Given the description of an element on the screen output the (x, y) to click on. 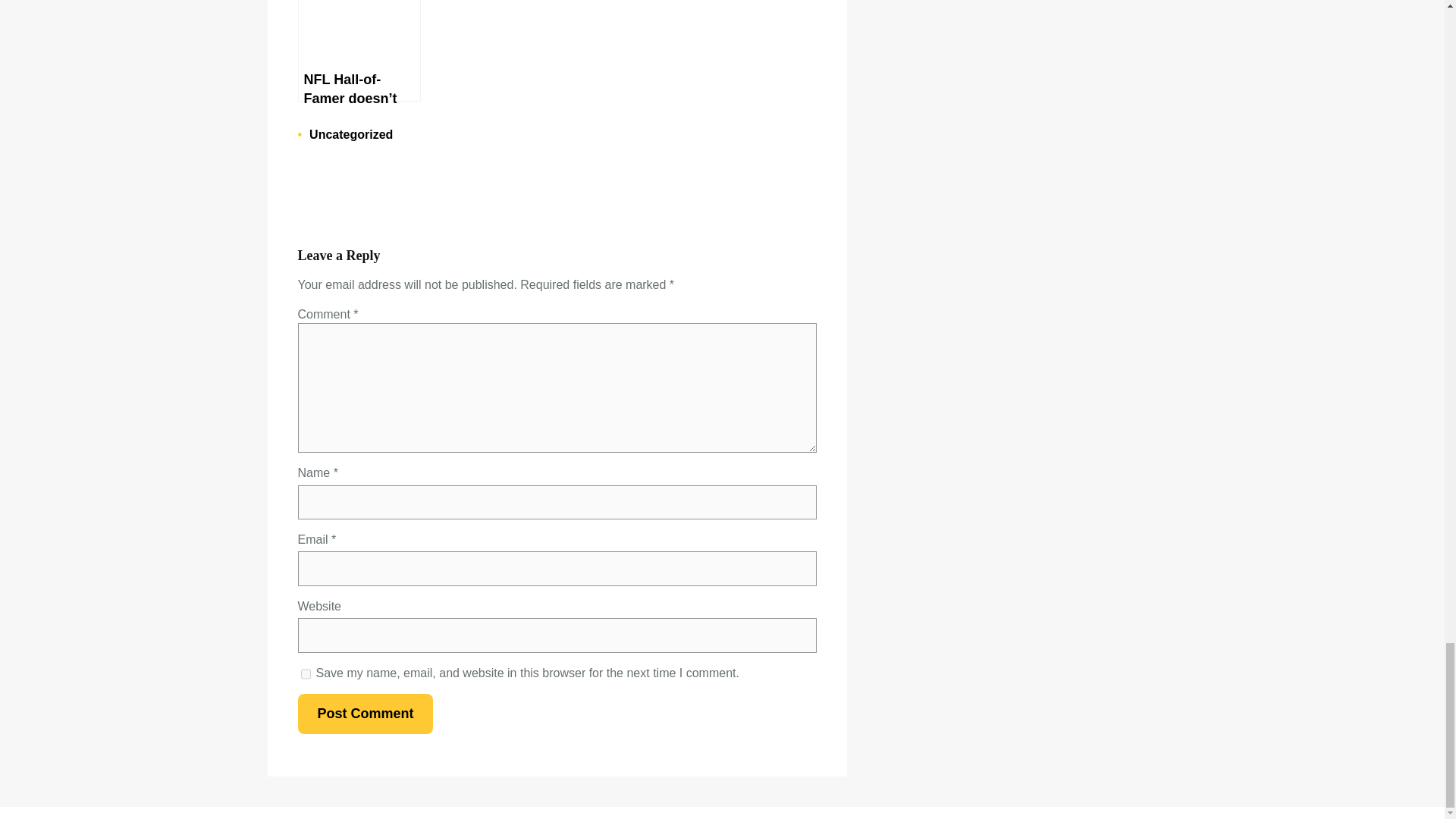
Post Comment (364, 713)
Uncategorized (350, 133)
Post Comment (364, 713)
yes (304, 674)
